Given the description of an element on the screen output the (x, y) to click on. 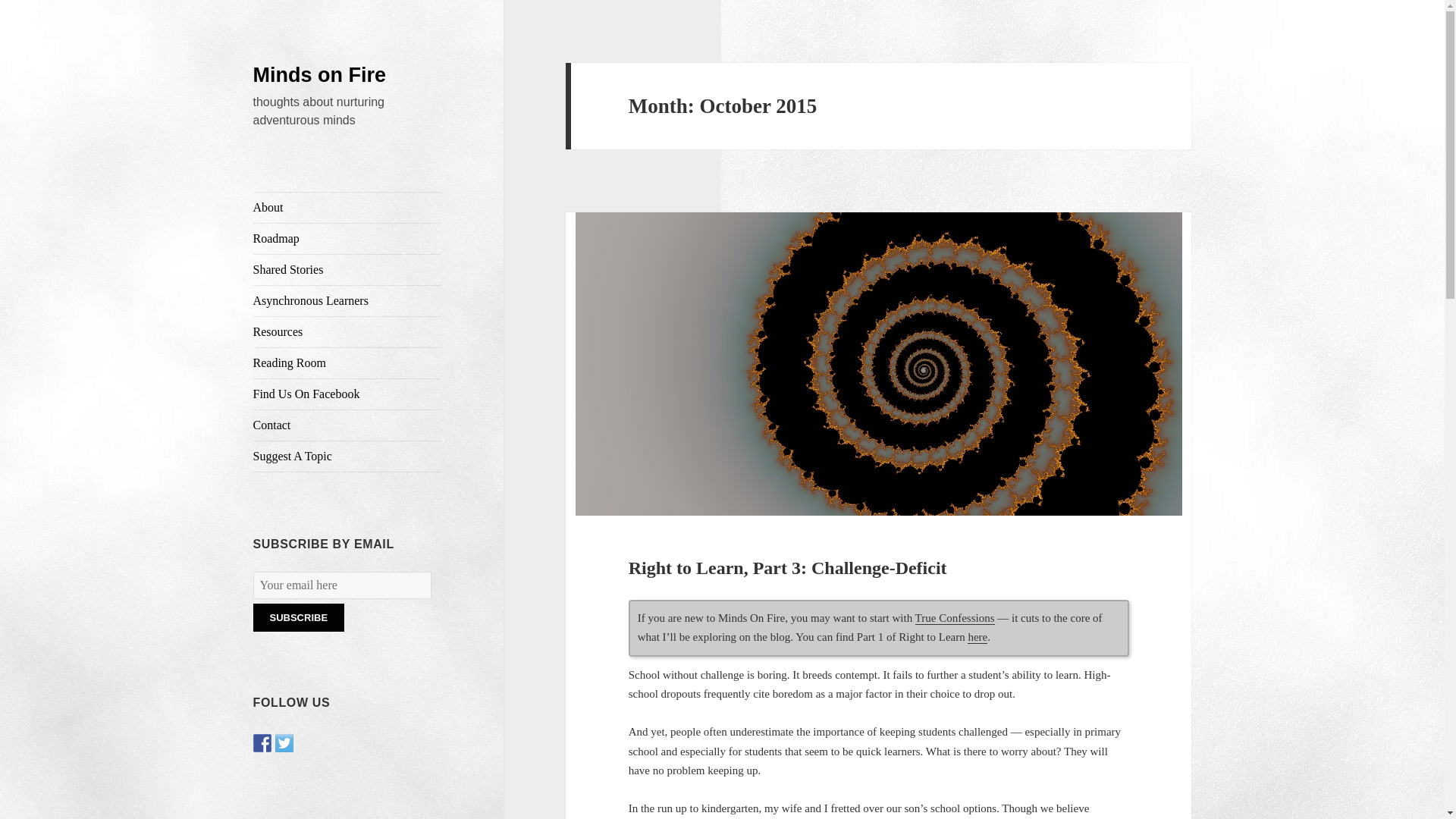
SUBSCRIBE (299, 617)
Follow us on Twitter (284, 742)
About (347, 207)
Contact (347, 425)
Suggest A Topic (347, 456)
Shared Stories (347, 269)
Reading Room (347, 363)
Minds on Fire (320, 74)
